Given the description of an element on the screen output the (x, y) to click on. 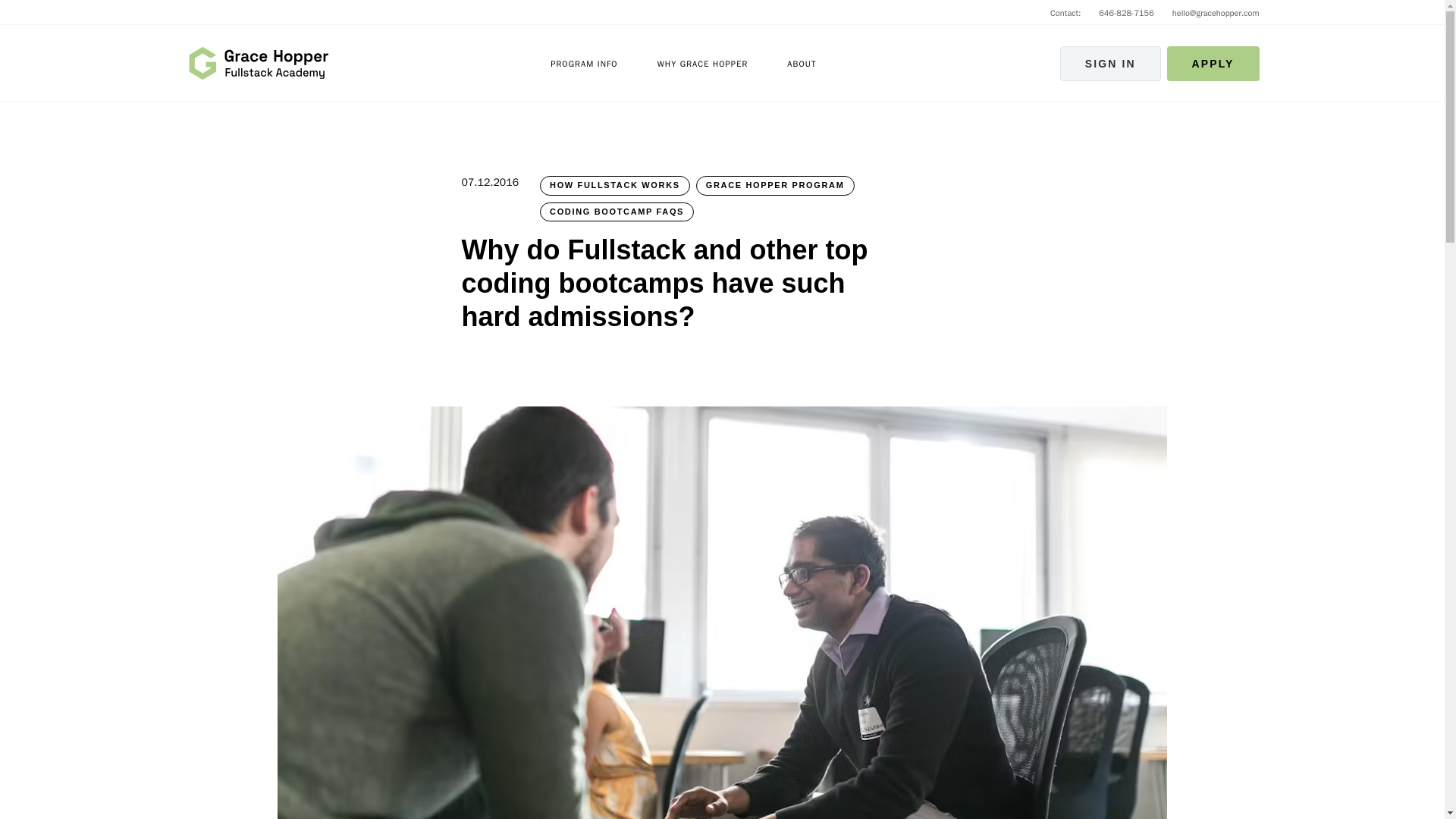
CODING BOOTCAMP FAQS (617, 211)
GRACE HOPPER PROGRAM (774, 185)
646-828-7156 (1126, 12)
HOW FULLSTACK WORKS (615, 185)
APPLY (1213, 62)
SIGN IN (1109, 62)
WHY GRACE HOPPER (702, 62)
PROGRAM INFO (584, 62)
